Given the description of an element on the screen output the (x, y) to click on. 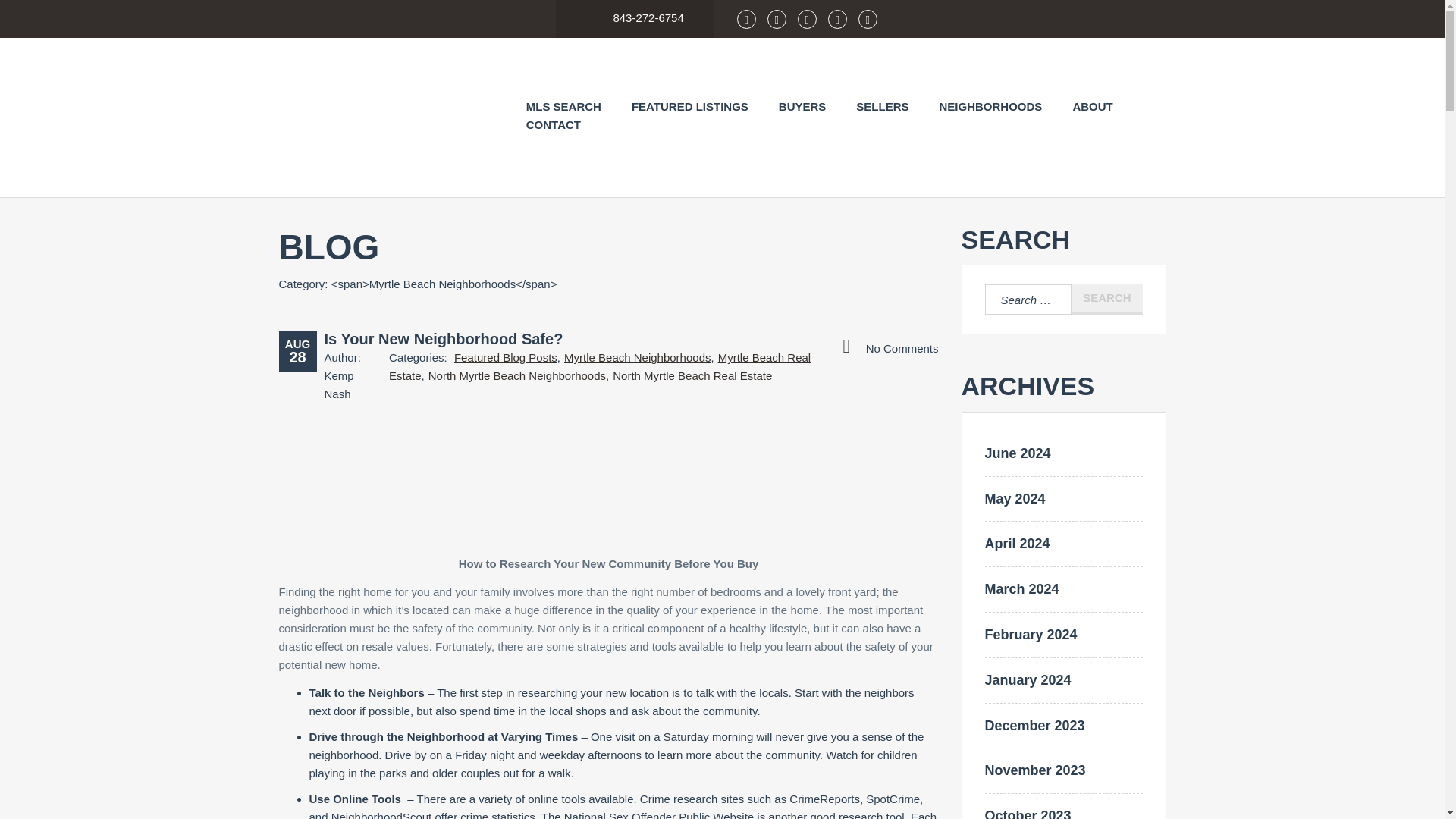
CONTACT (552, 124)
843-272-6754 (635, 11)
Is Your New Neighborhood Safe? (443, 338)
MLS SEARCH (563, 106)
Century 21 Coastal Lifestyles (387, 117)
FEATURED LISTINGS (689, 106)
Search (1106, 299)
Myrtle Beach Neighborhoods (637, 357)
Search (1106, 299)
BUYERS (802, 106)
North Myrtle Beach Neighborhoods (516, 375)
Myrtle Beach Real Estate (599, 366)
North Myrtle Beach Real Estate (691, 375)
No Comments (891, 346)
NEIGHBORHOODS (990, 106)
